Given the description of an element on the screen output the (x, y) to click on. 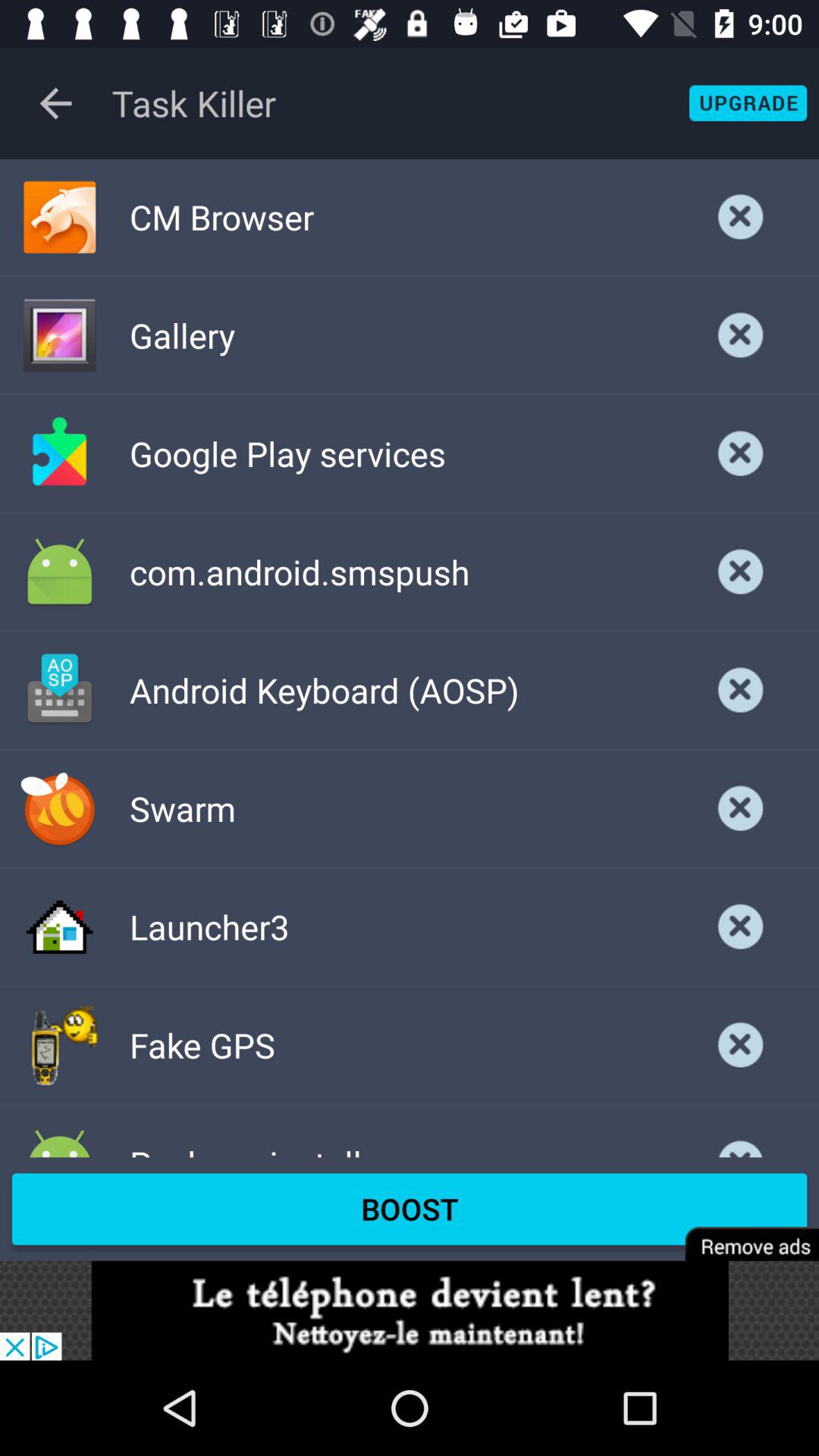
advertisement website (409, 1310)
